Given the description of an element on the screen output the (x, y) to click on. 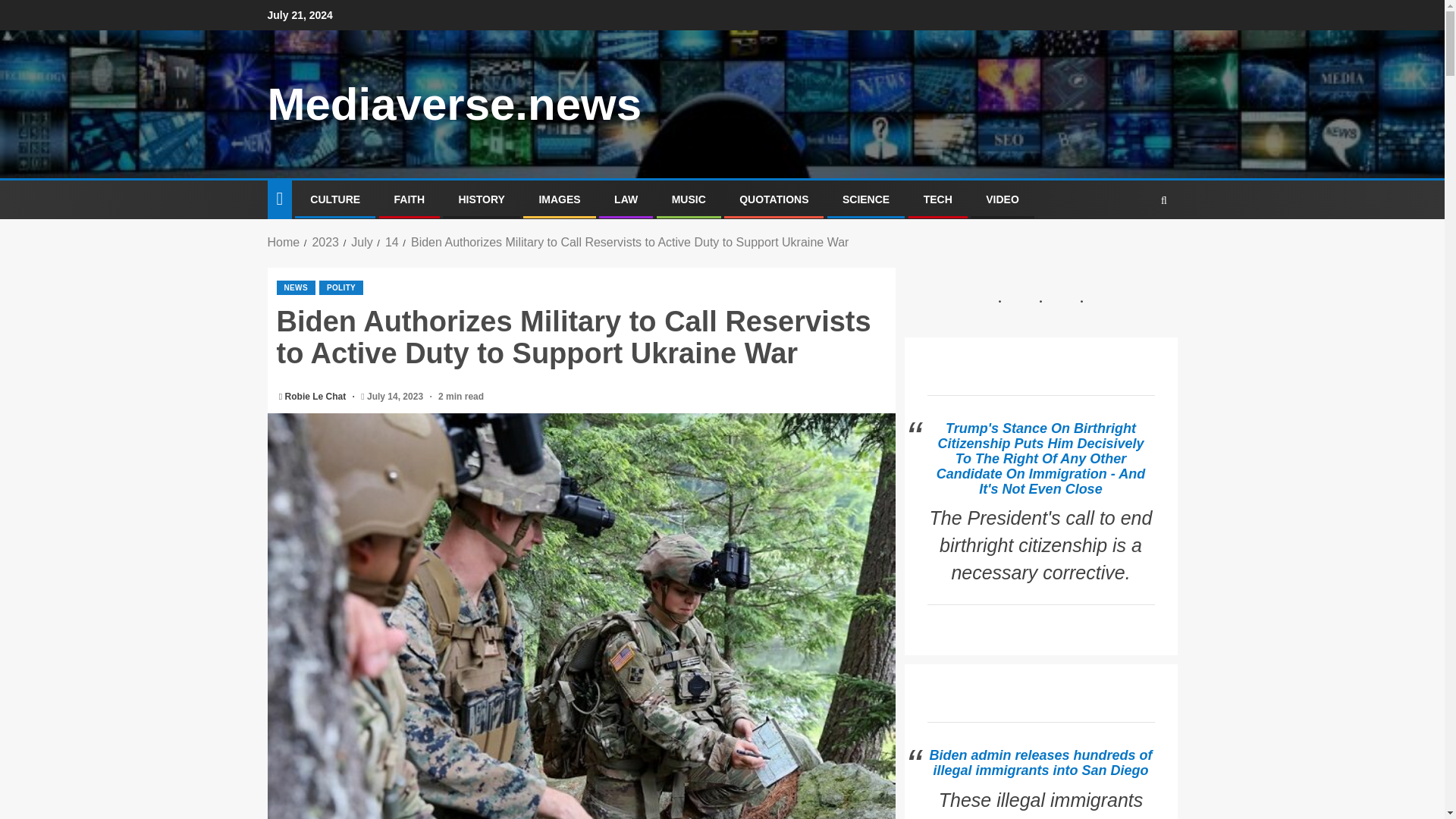
LAW (625, 199)
Robie Le Chat (317, 396)
NEWS (295, 287)
Home (282, 241)
VIDEO (1002, 199)
Search (1133, 245)
POLITY (340, 287)
IMAGES (558, 199)
HISTORY (480, 199)
CULTURE (334, 199)
Mediaverse.news (454, 103)
MUSIC (688, 199)
2023 (325, 241)
QUOTATIONS (773, 199)
